Given the description of an element on the screen output the (x, y) to click on. 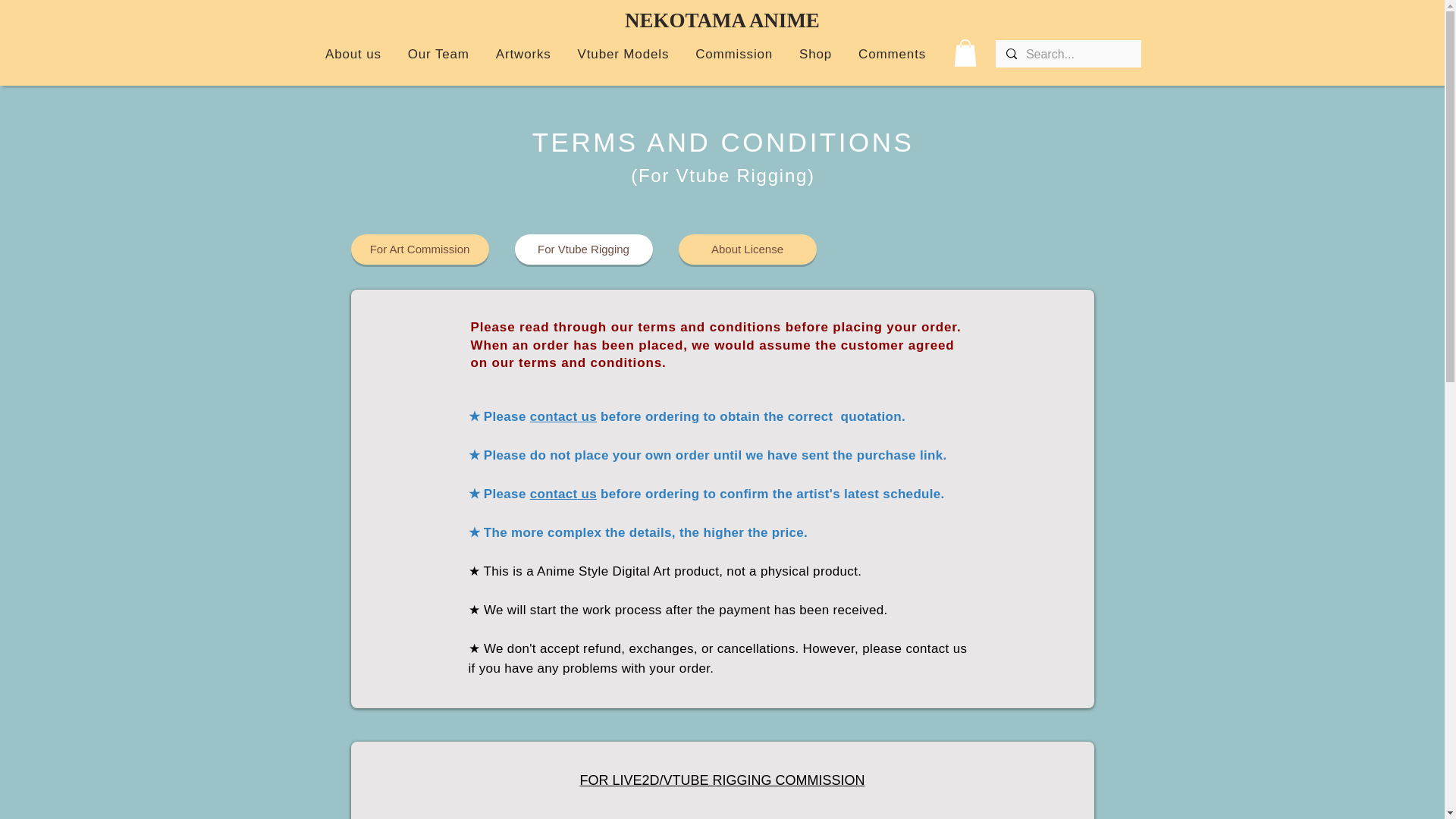
NEKOTAMA ANIME (721, 20)
Comments (892, 54)
Our Team (438, 54)
For Art Commission (418, 249)
contact (553, 416)
About License (746, 249)
For Vtube Rigging (582, 249)
